Given the description of an element on the screen output the (x, y) to click on. 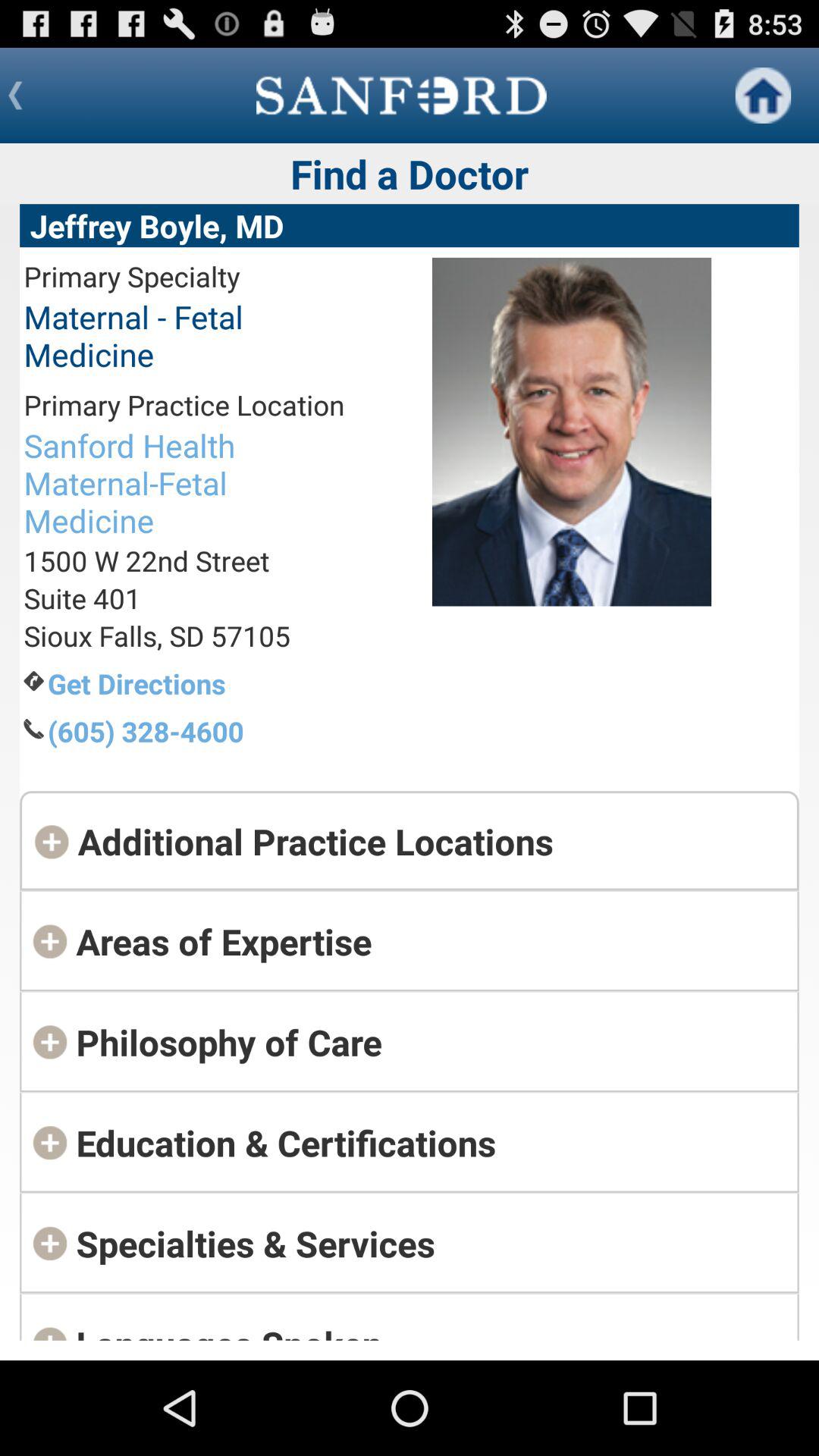
launch the get directions app (195, 683)
